Given the description of an element on the screen output the (x, y) to click on. 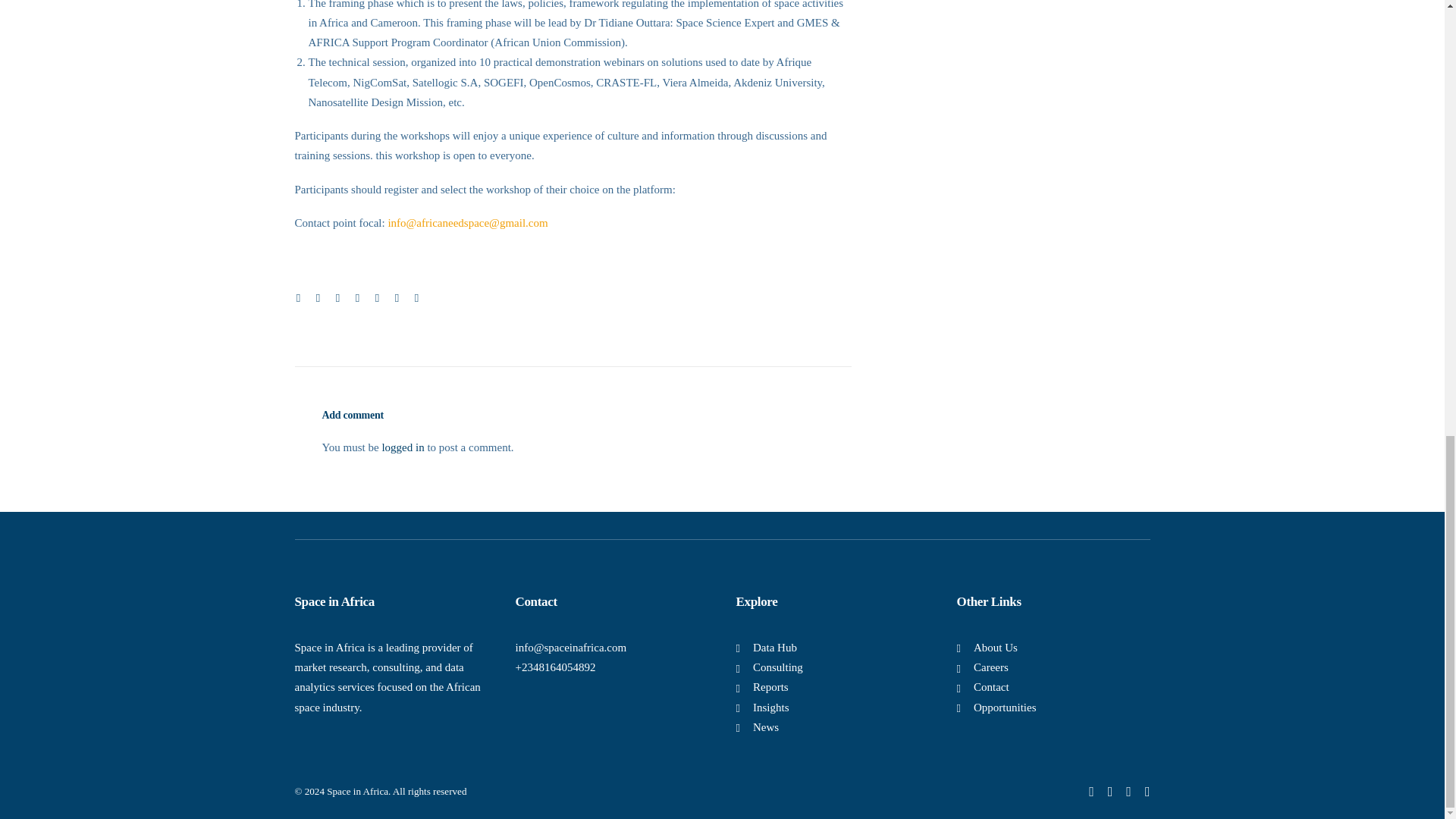
Reports (770, 686)
Data Hub (774, 647)
About Us (995, 647)
Consulting (777, 666)
logged in (402, 447)
Careers (991, 666)
Insights (770, 707)
News (765, 727)
